Given the description of an element on the screen output the (x, y) to click on. 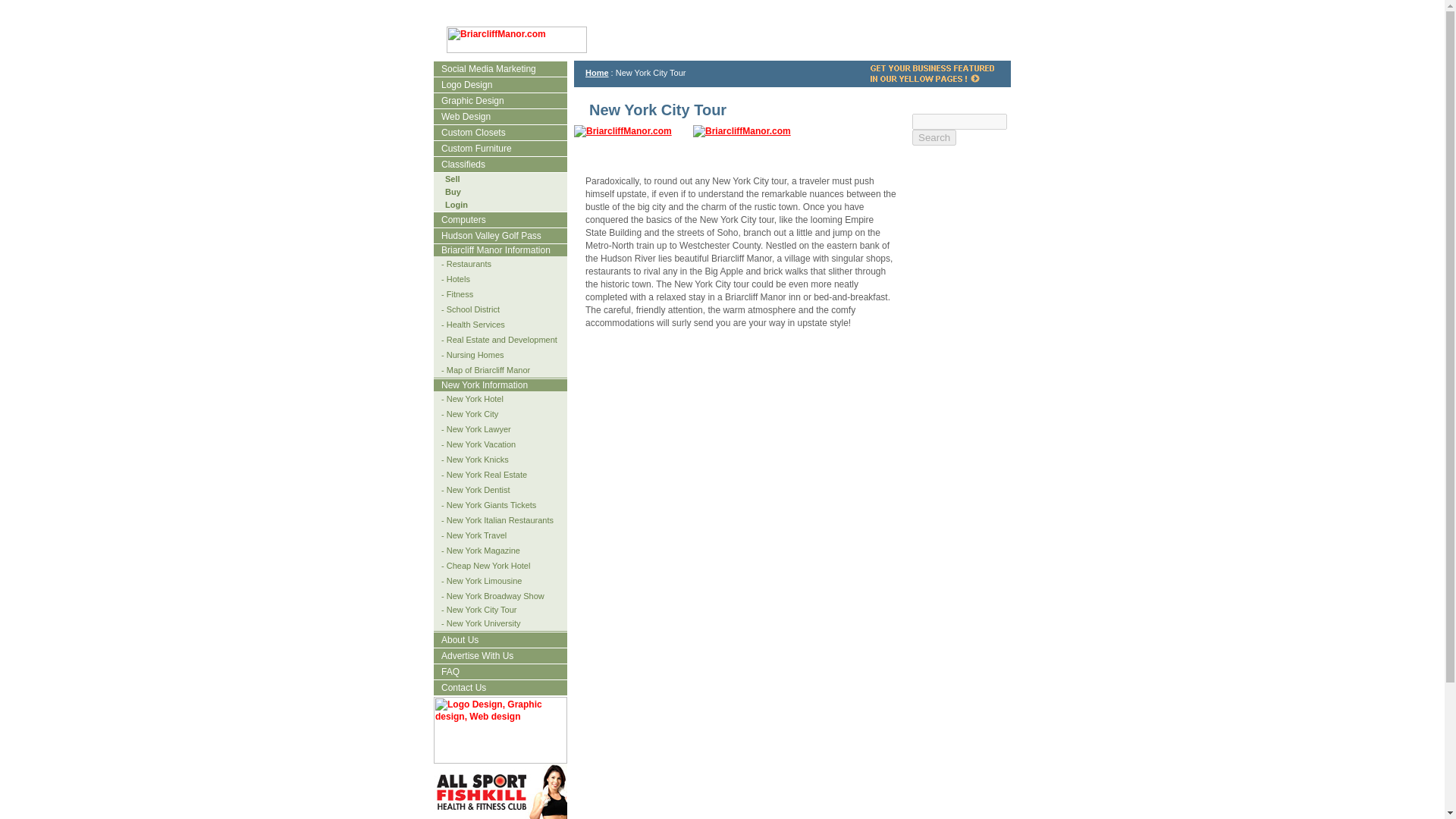
- New York Real Estate (480, 474)
- New York Giants Tickets (484, 504)
Graphic Design (468, 100)
Web Design (461, 116)
Briarcliff Manor Information (491, 249)
Custom Closets (469, 132)
Classifieds (458, 163)
- Health Services (469, 324)
- Restaurants (462, 263)
BriarcliffManor.com (622, 131)
